Given the description of an element on the screen output the (x, y) to click on. 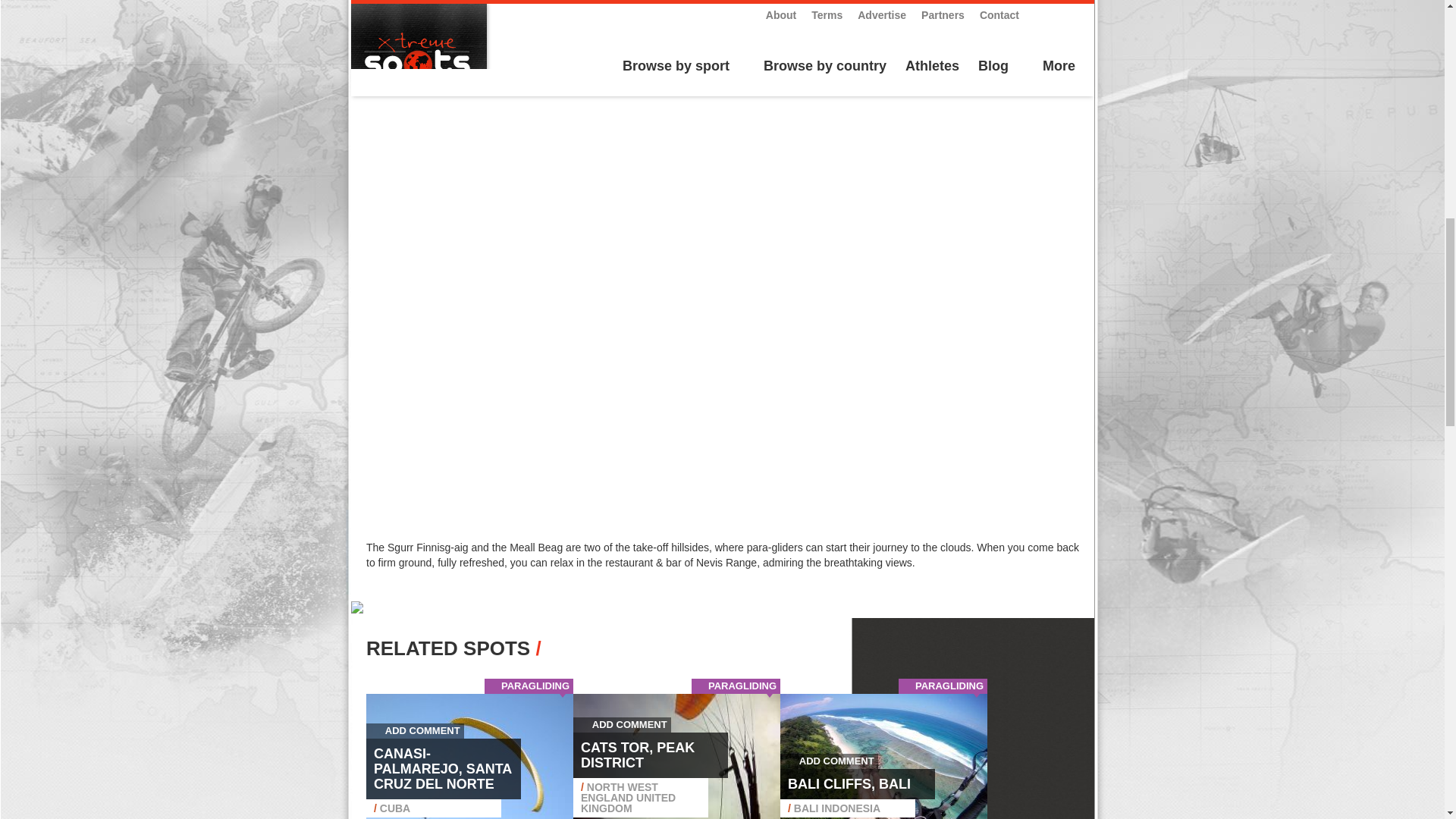
PARAGLIDING (534, 685)
  ADD COMMENT (415, 730)
CANASI-PALMAREJO, SANTA CRUZ DEL NORTE (443, 768)
